Given the description of an element on the screen output the (x, y) to click on. 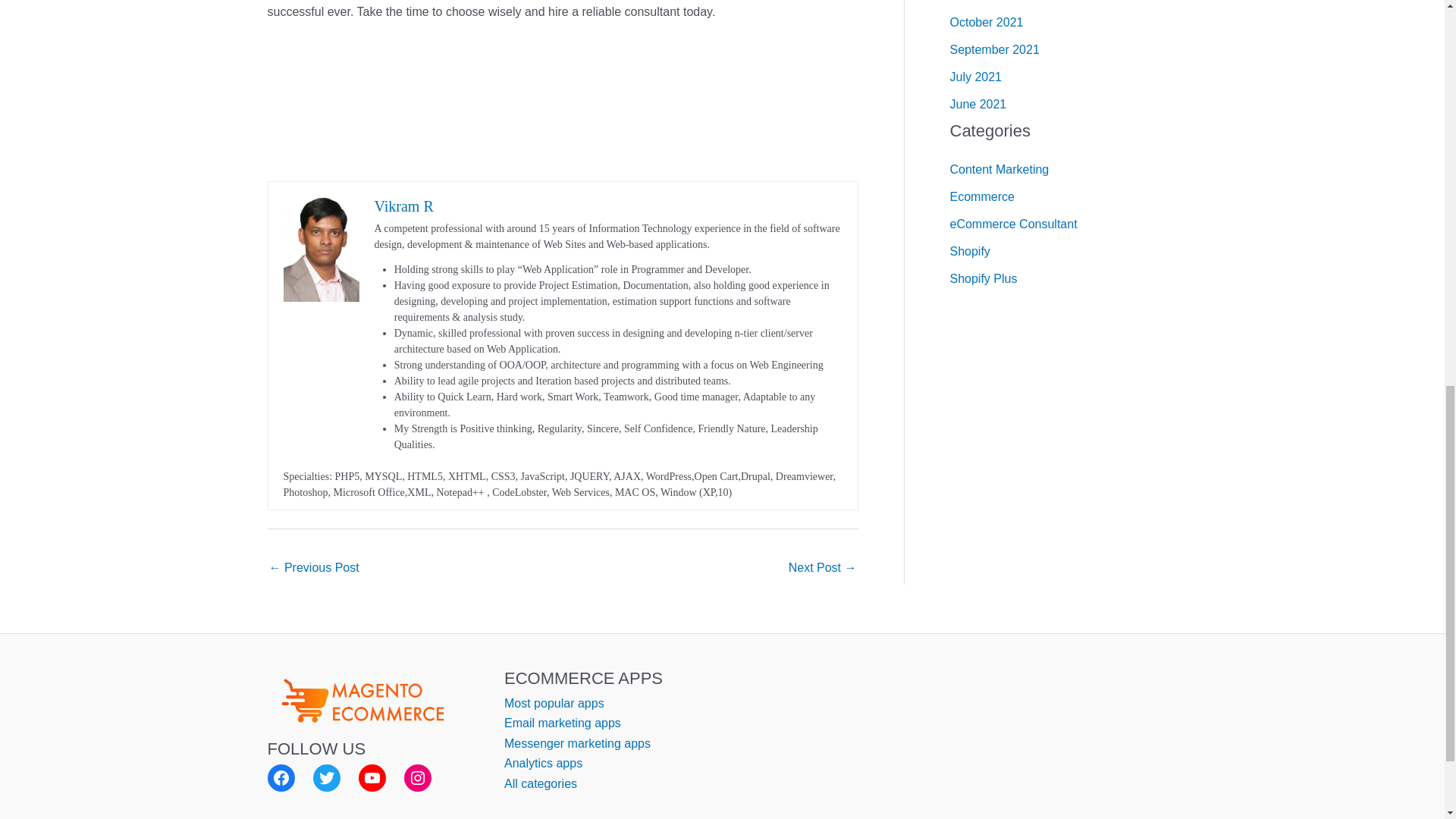
Vikram R (403, 206)
Why Choose Ecommerce? (312, 569)
